Given the description of an element on the screen output the (x, y) to click on. 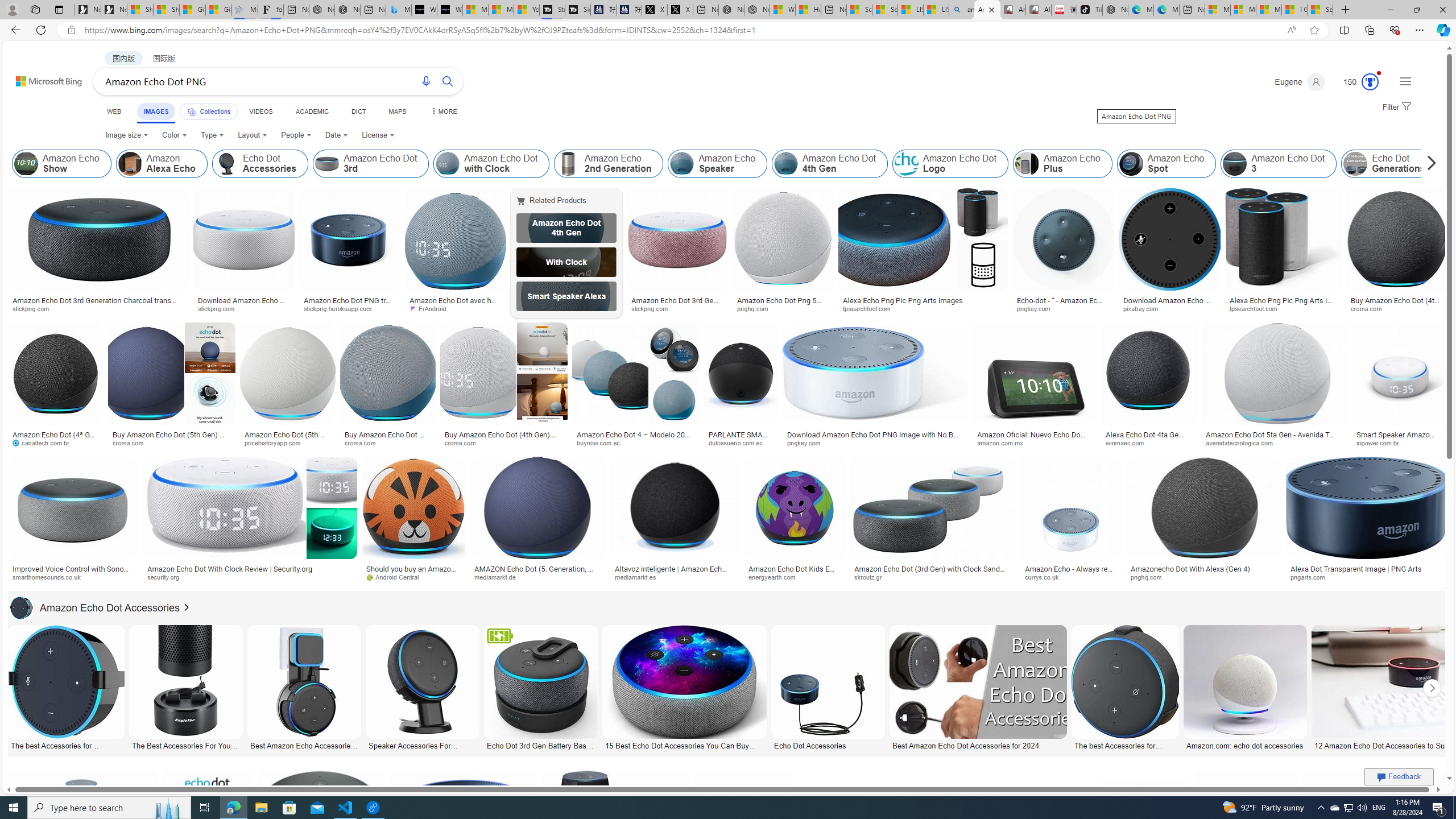
security.org (249, 576)
People (295, 135)
pixabay.com (1144, 308)
Amazon Echo Show (25, 163)
energyearth.com (794, 576)
Amazon Echo Spot (1130, 163)
Amazon Echo Dot 3 (1278, 163)
mediamarkt.de (537, 576)
